Given the description of an element on the screen output the (x, y) to click on. 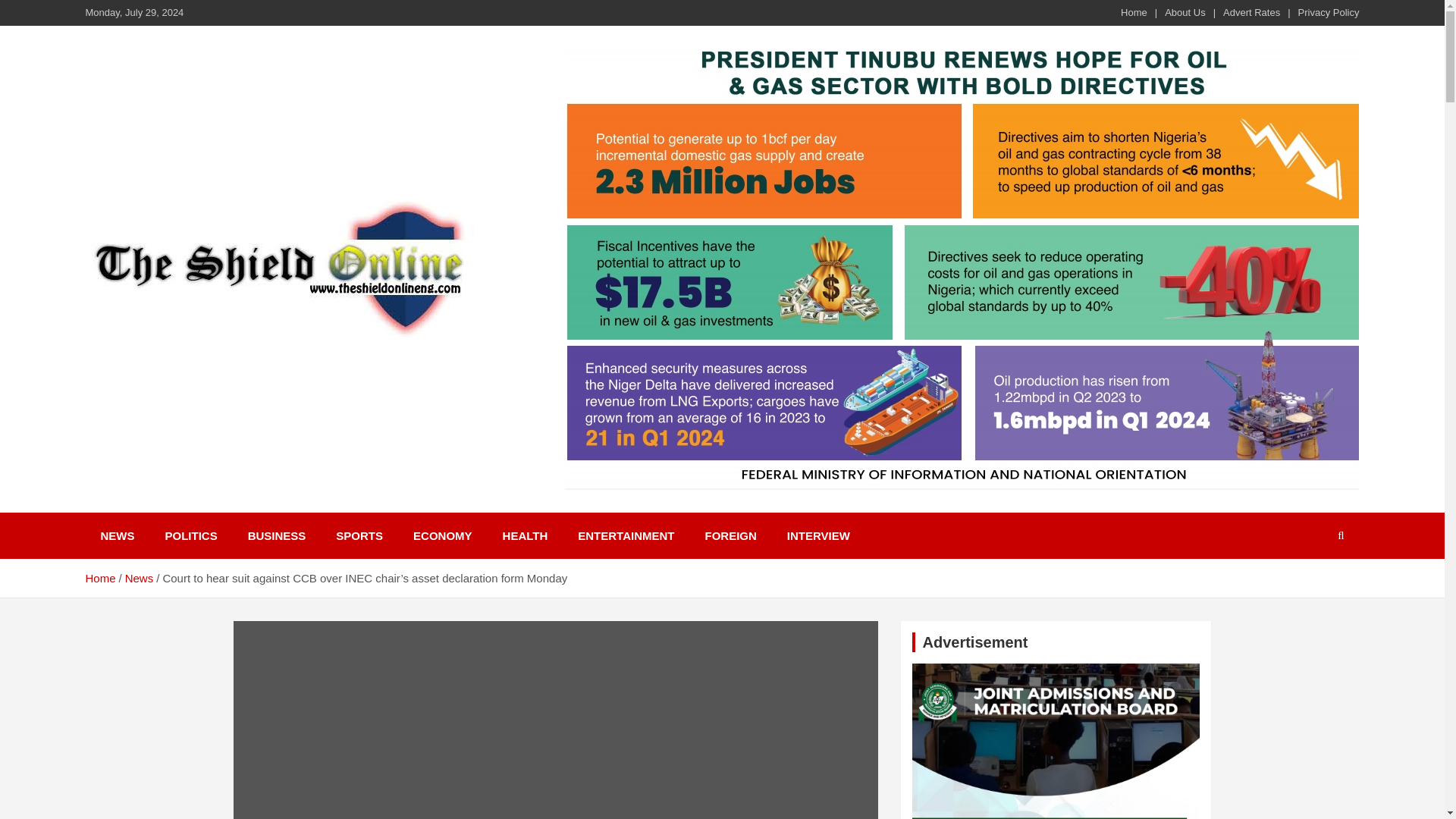
ECONOMY (442, 535)
FOREIGN (730, 535)
INTERVIEW (817, 535)
ENTERTAINMENT (625, 535)
News (139, 577)
Home (99, 577)
NEWS (116, 535)
BUSINESS (276, 535)
HEALTH (525, 535)
Advert Rates (1251, 12)
Privacy Policy (1328, 12)
About Us (1184, 12)
The Shield Online! (217, 356)
SPORTS (358, 535)
Home (1134, 12)
